Given the description of an element on the screen output the (x, y) to click on. 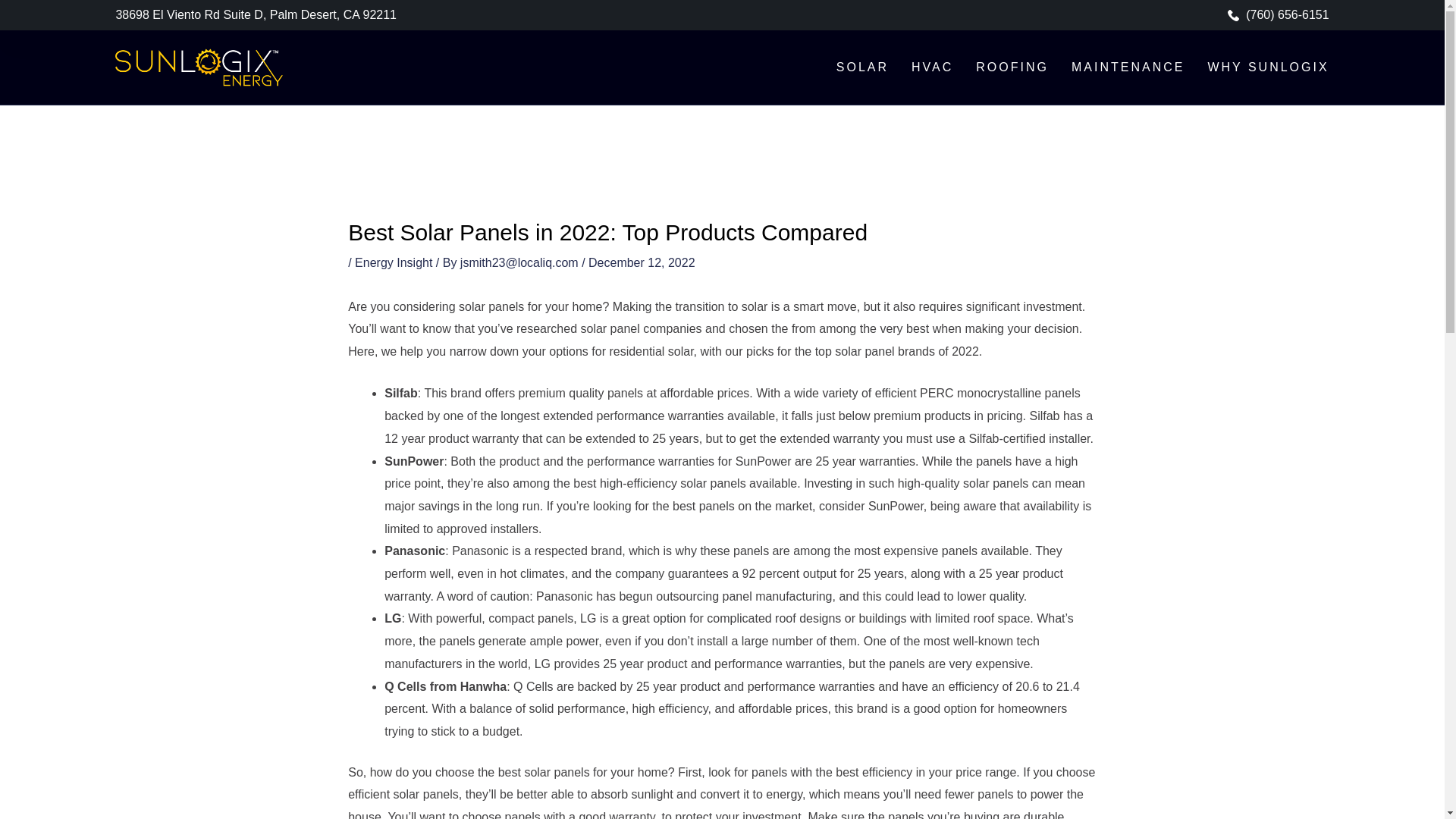
WHY SUNLOGIX (1267, 66)
HVAC (932, 66)
ROOFING (1011, 66)
MAINTENANCE (1128, 66)
SOLAR (861, 66)
